Given the description of an element on the screen output the (x, y) to click on. 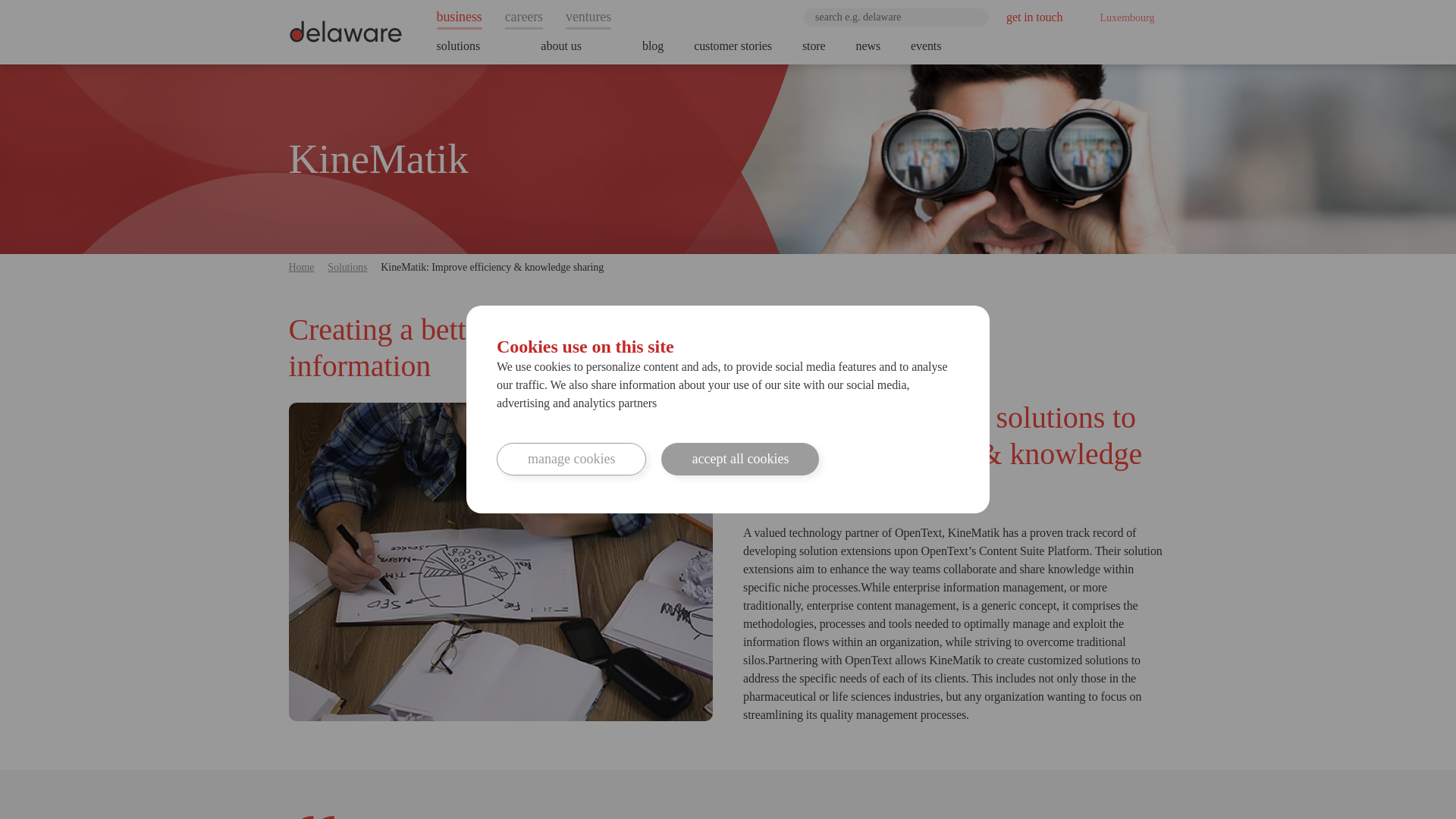
get in touch (1034, 16)
Luxembourg (1122, 17)
